Given the description of an element on the screen output the (x, y) to click on. 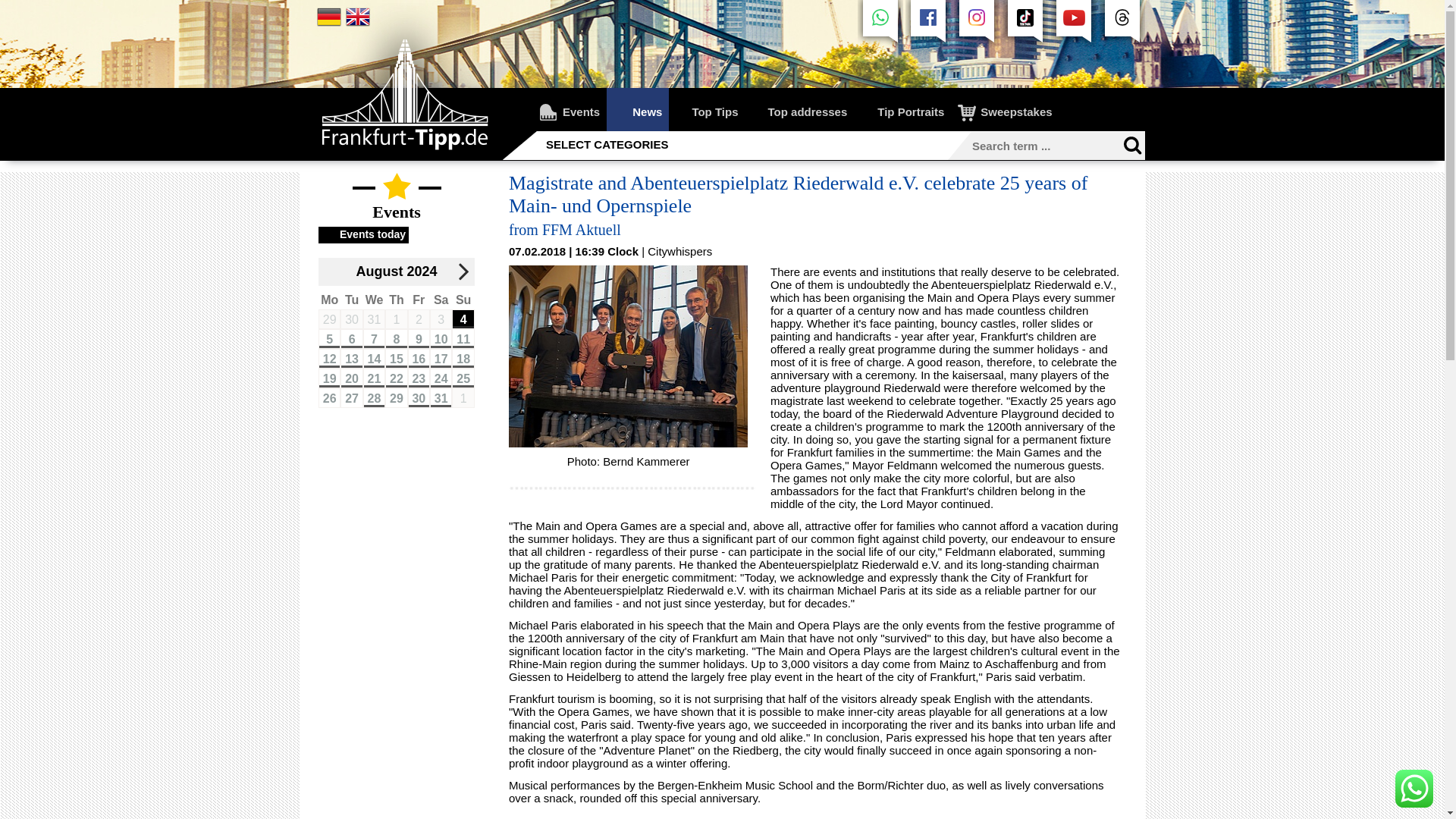
whatsapp (879, 24)
DE (328, 24)
follow us on tiktok (1025, 24)
Tip Portraits (903, 109)
Sweepstakes (1005, 109)
DE (328, 16)
SELECT CATEGORIES (612, 145)
EN (357, 24)
EN (357, 16)
News (637, 109)
